Given the description of an element on the screen output the (x, y) to click on. 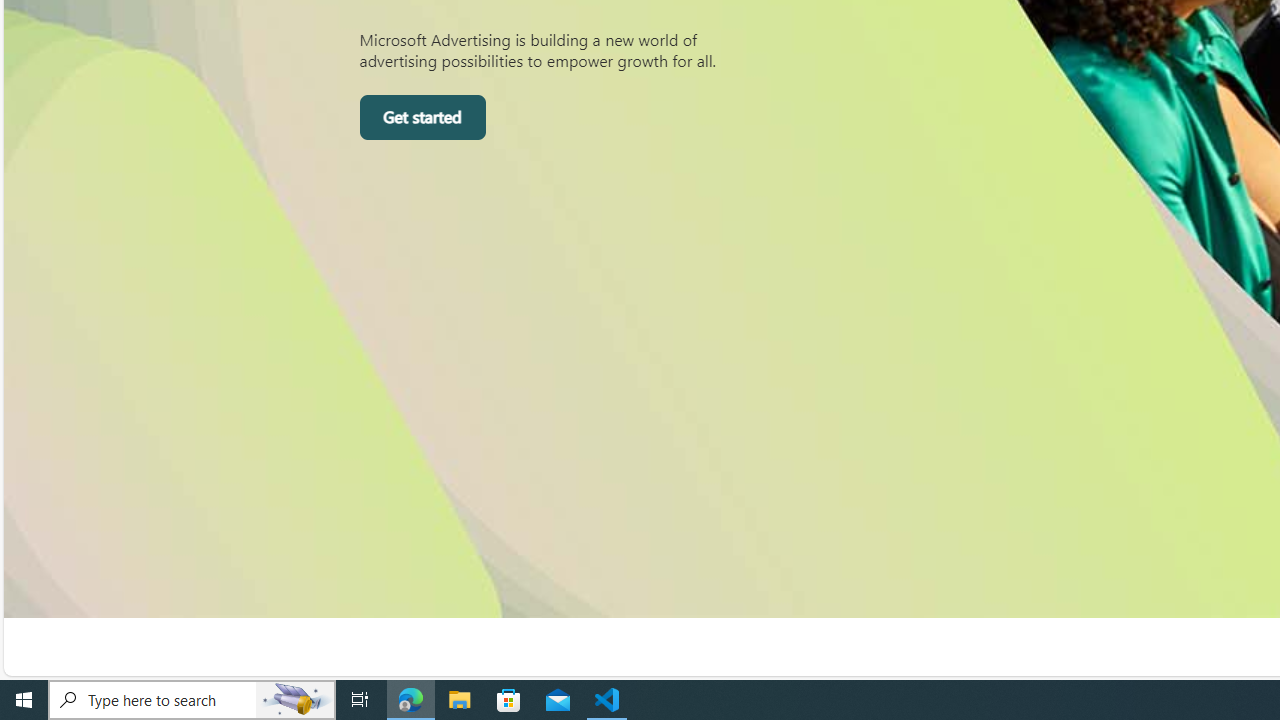
Get started (422, 118)
